Given the description of an element on the screen output the (x, y) to click on. 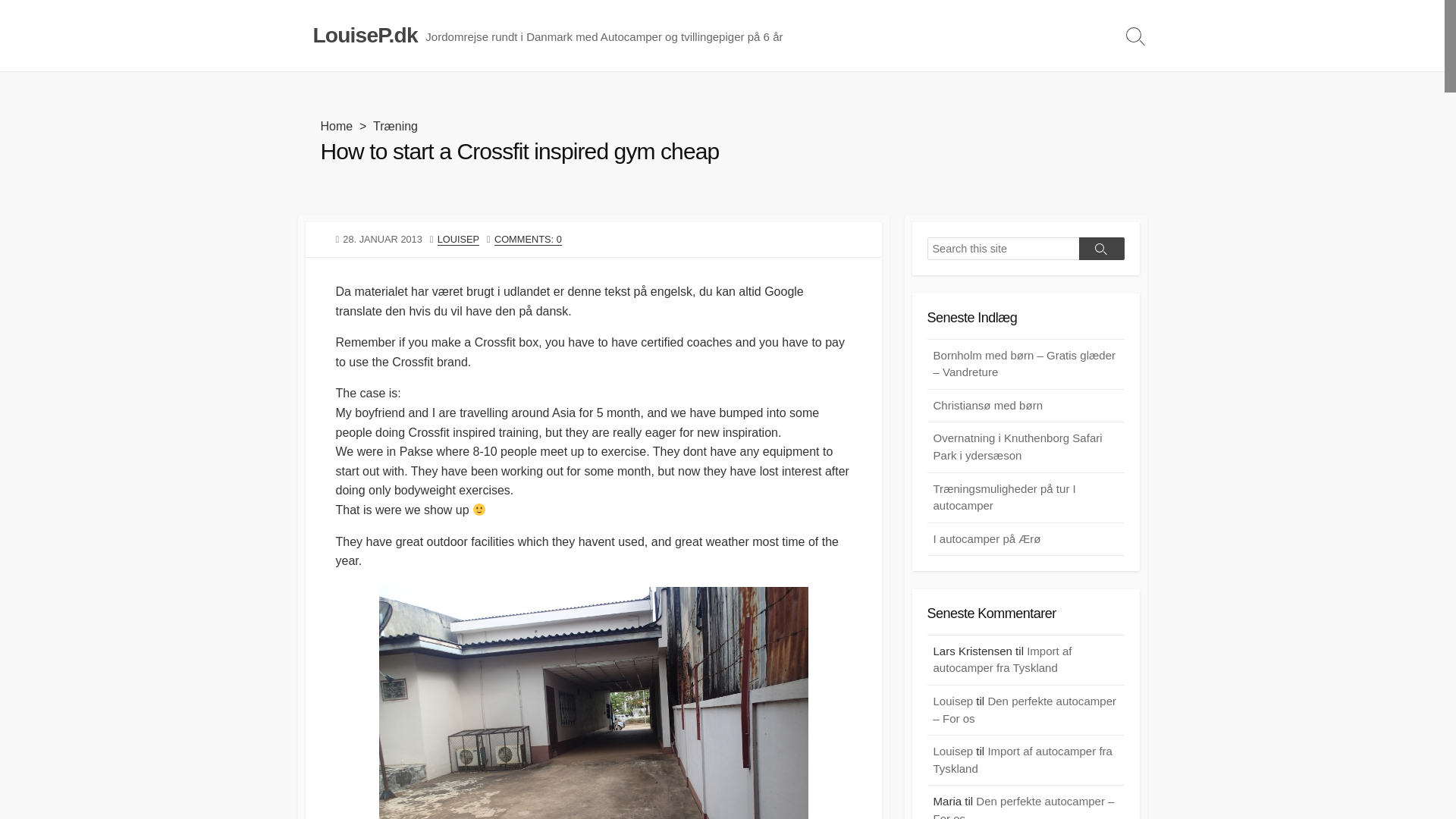
Home (336, 125)
LouiseP.dk (364, 35)
LouiseP.dk (364, 35)
Outdoor facilities (593, 703)
COMMENTS: 0 (528, 238)
LOUISEP (458, 238)
Search Toggle (1135, 35)
